Given the description of an element on the screen output the (x, y) to click on. 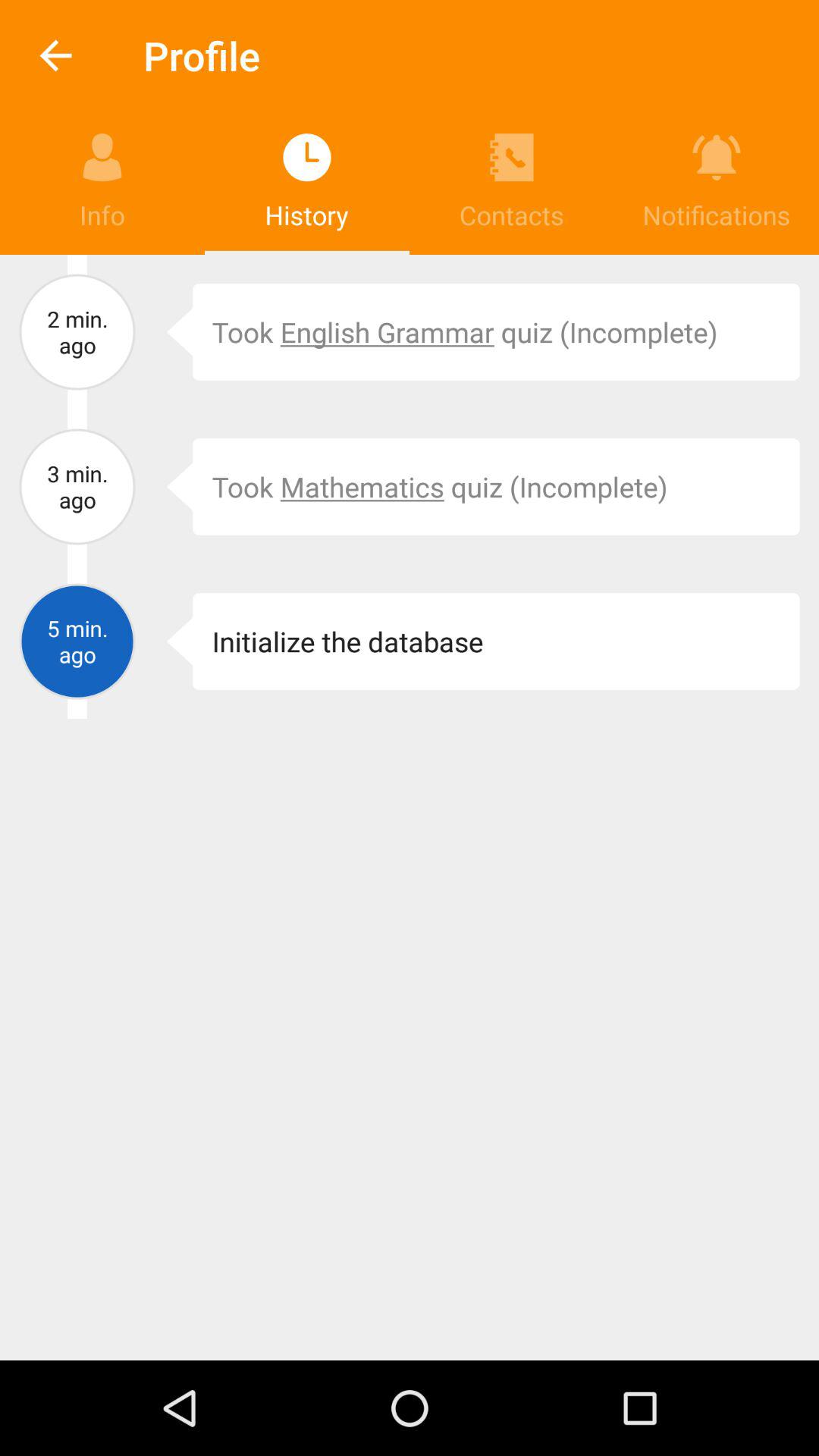
swipe until the took english grammar app (495, 331)
